Given the description of an element on the screen output the (x, y) to click on. 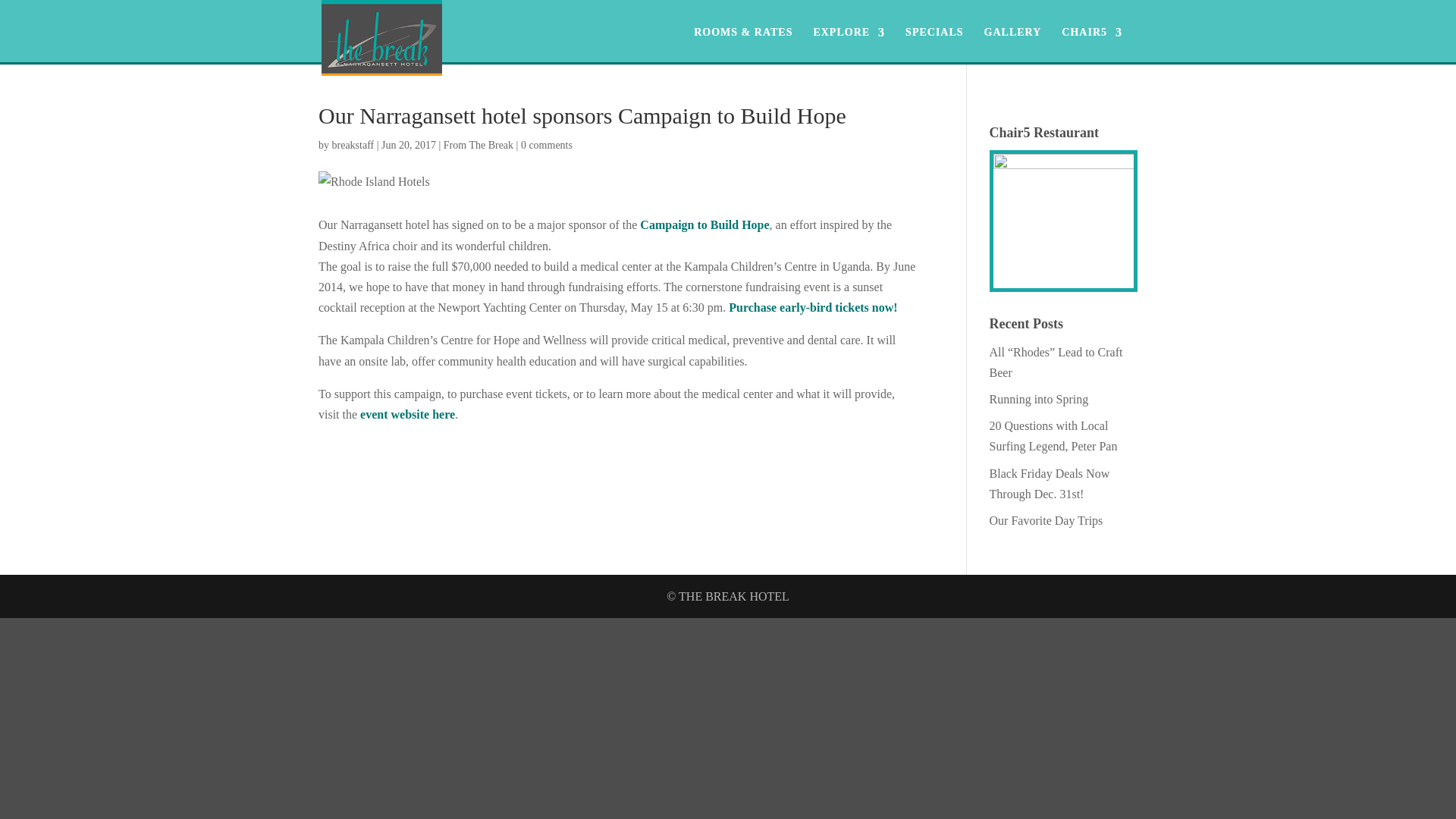
Running into Spring (1039, 399)
breakstaff (352, 144)
20 Questions with Local Surfing Legend, Peter Pan (1054, 435)
SPECIALS (933, 38)
event website here (406, 413)
Black Friday Deals Now Through Dec. 31st! (1049, 483)
CHAIR5 (1091, 38)
EXPLORE (848, 38)
0 comments (546, 144)
GALLERY (1013, 38)
